Given the description of an element on the screen output the (x, y) to click on. 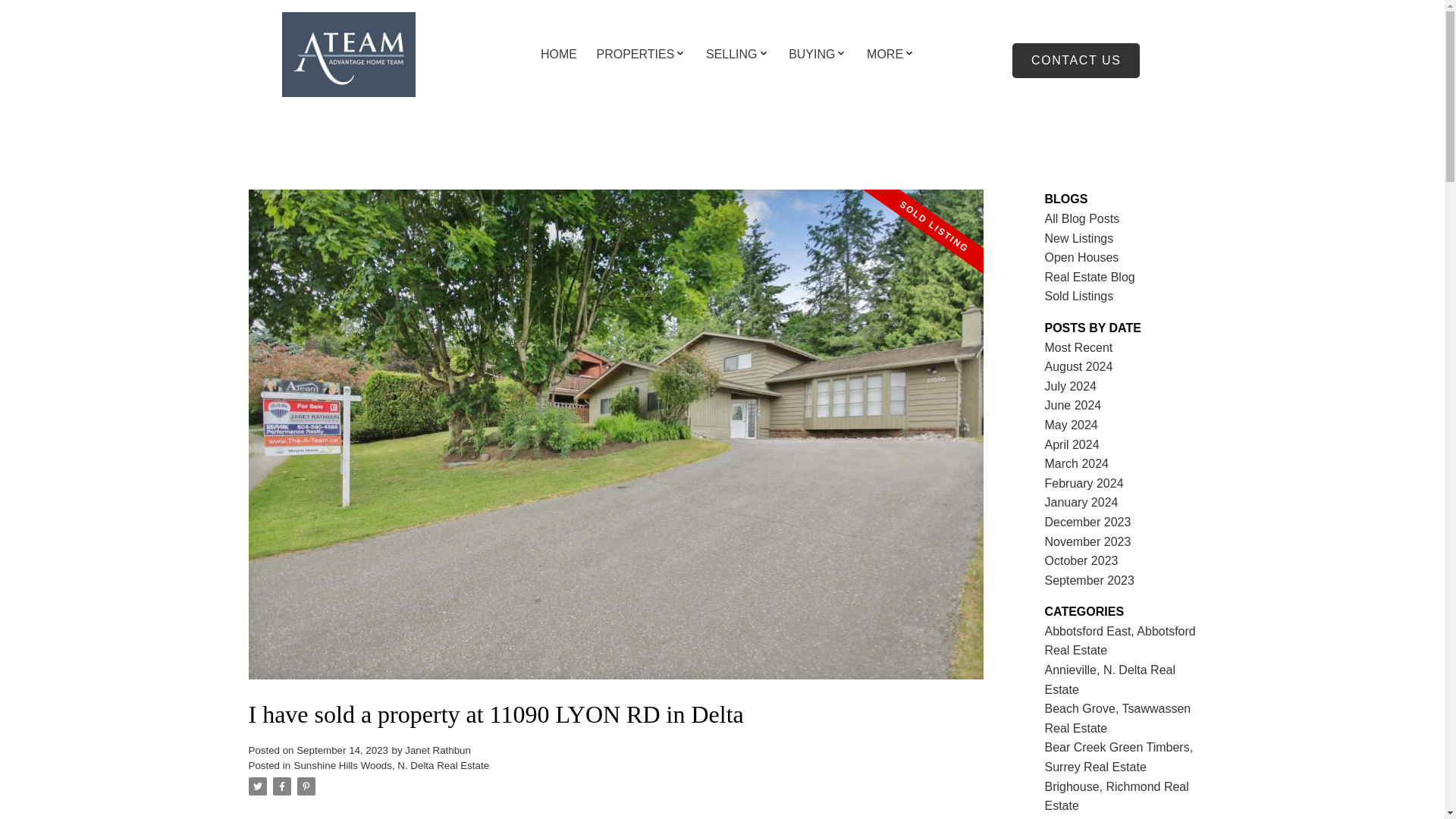
HOME (558, 55)
CONTACT US (1075, 60)
PROPERTIES (635, 55)
BUYING (811, 55)
SELLING (731, 55)
Sunshine Hills Woods, N. Delta Real Estate (391, 765)
